Given the description of an element on the screen output the (x, y) to click on. 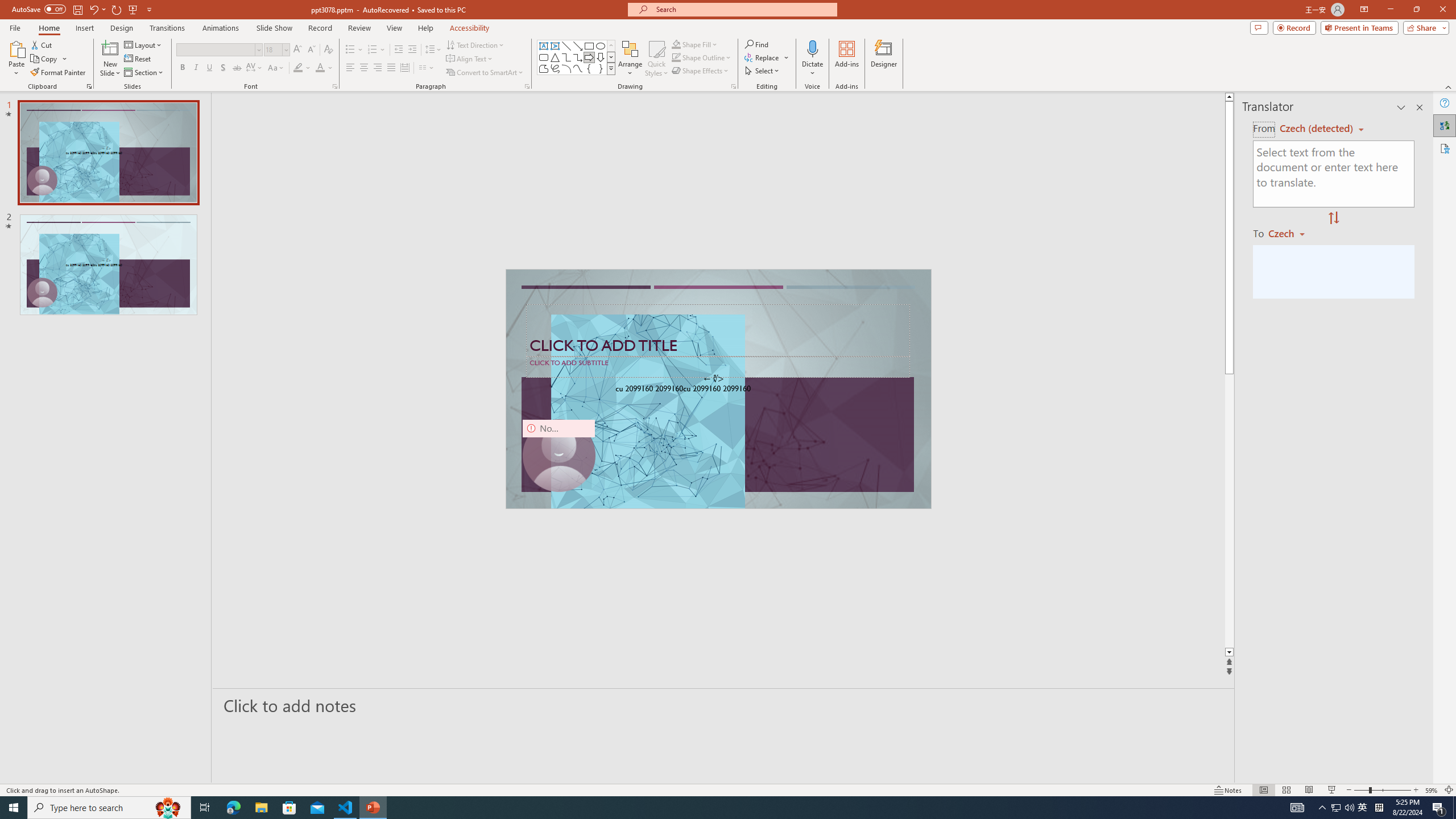
Shape Effects (700, 69)
